Given the description of an element on the screen output the (x, y) to click on. 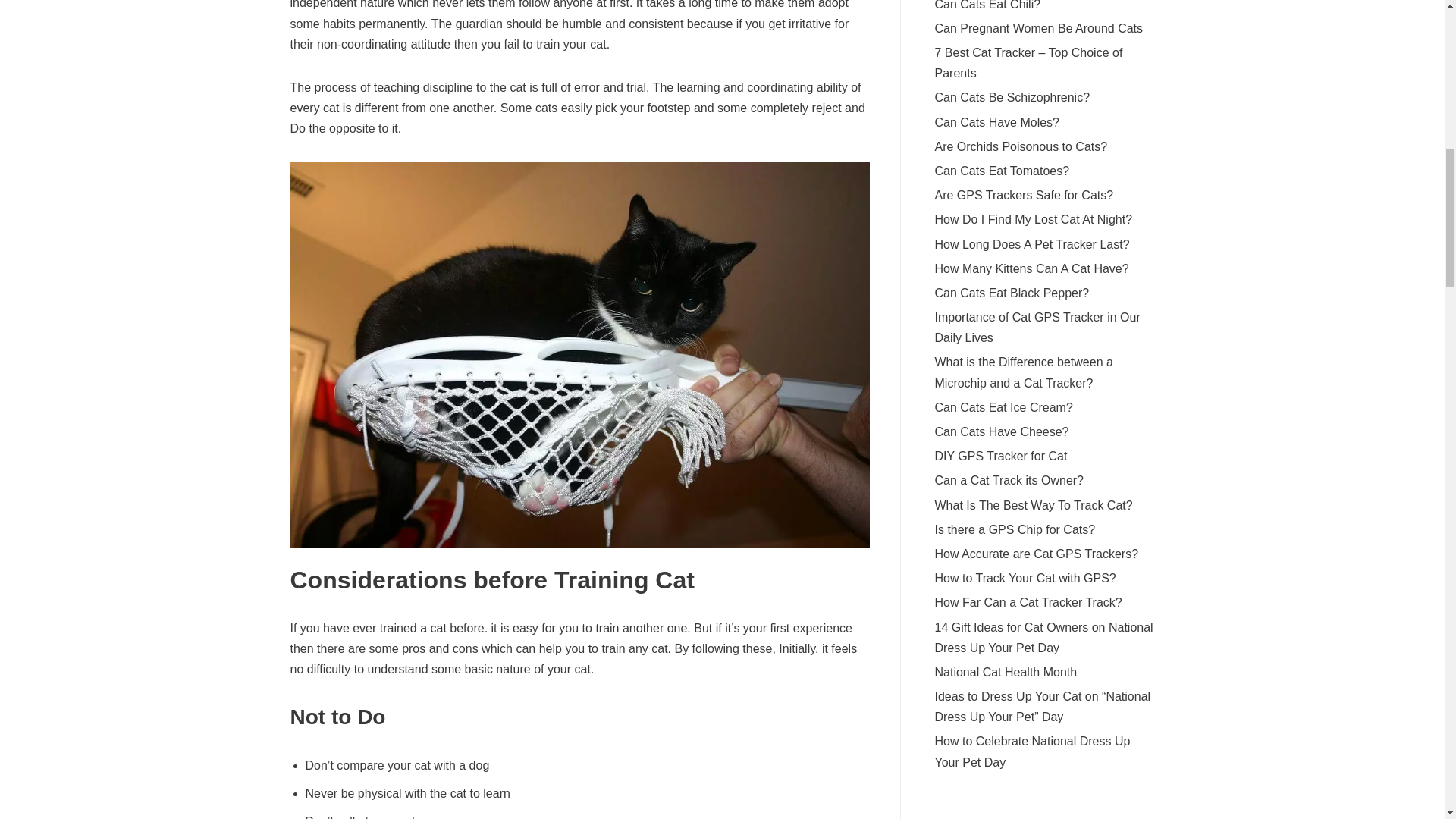
Can Cats Be Schizophrenic? (1011, 97)
Can Cats Eat Chili? (987, 5)
Are GPS Trackers Safe for Cats? (1023, 195)
Are Orchids Poisonous to Cats? (1020, 146)
Can Cats Have Moles? (996, 122)
Can Pregnant Women Be Around Cats (1038, 28)
How Do I Find My Lost Cat At Night? (1033, 219)
Can Cats Eat Tomatoes? (1001, 170)
